Given the description of an element on the screen output the (x, y) to click on. 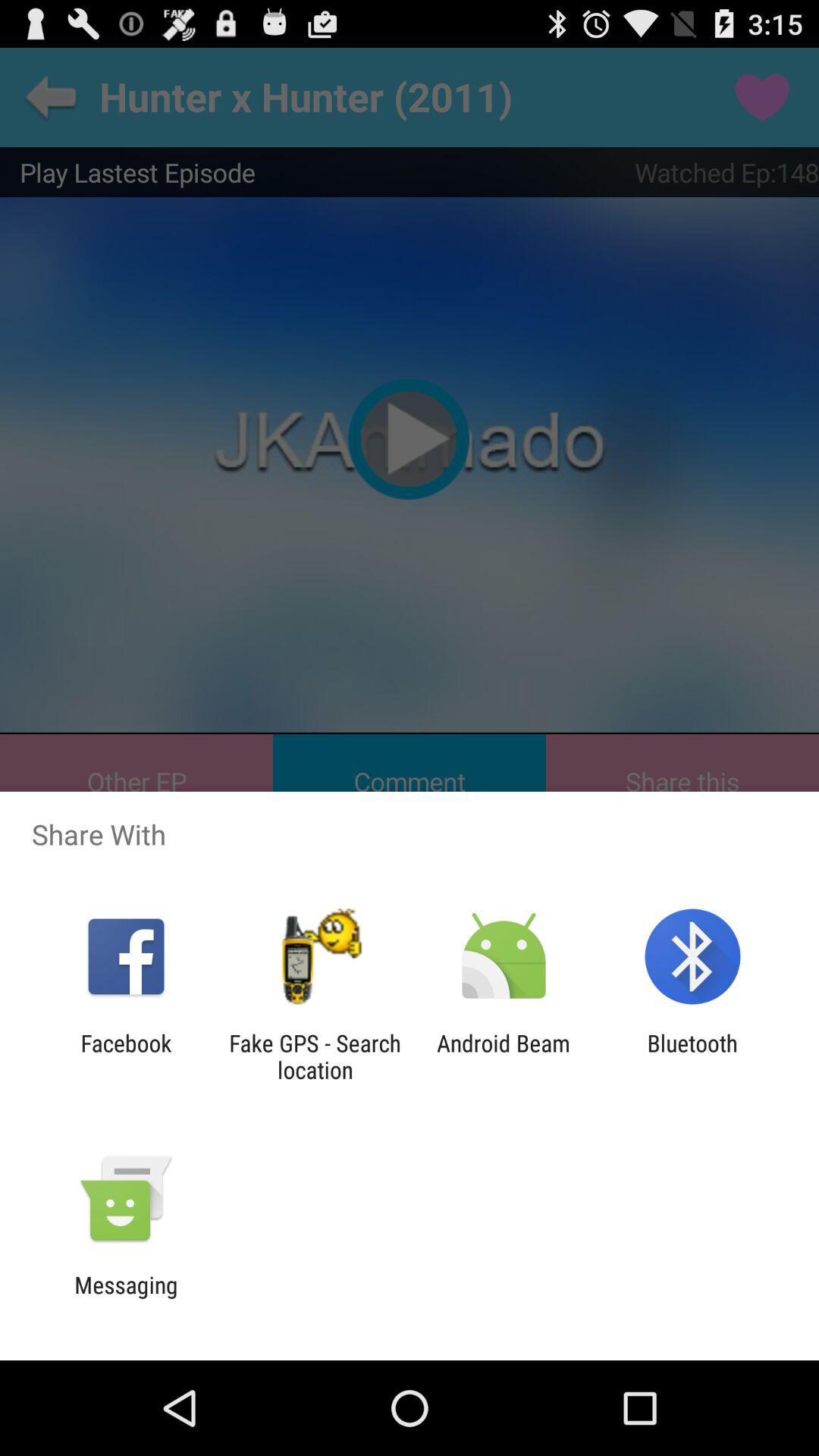
jump until android beam icon (503, 1056)
